Given the description of an element on the screen output the (x, y) to click on. 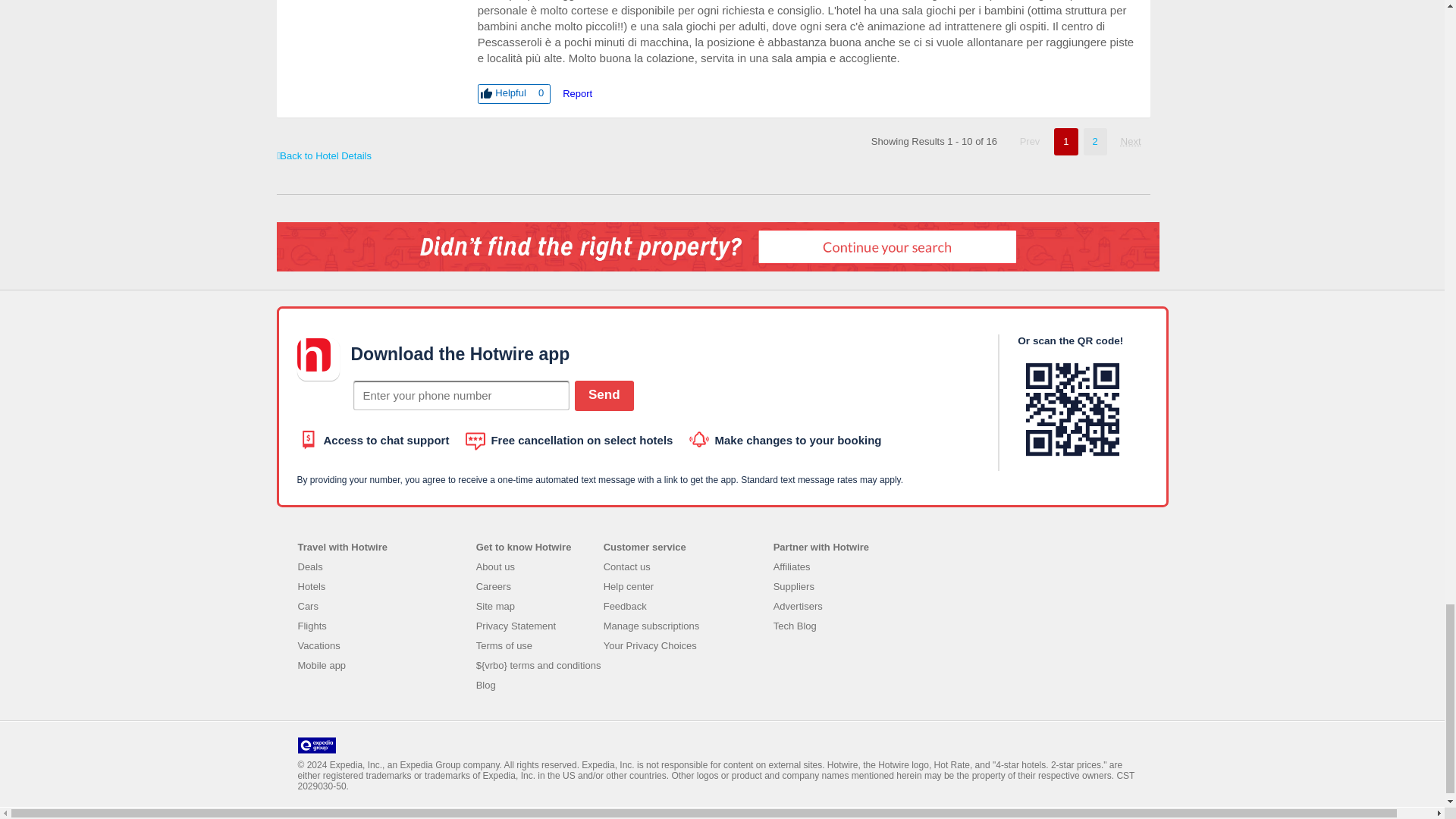
Go to page 2 (1131, 141)
